Given the description of an element on the screen output the (x, y) to click on. 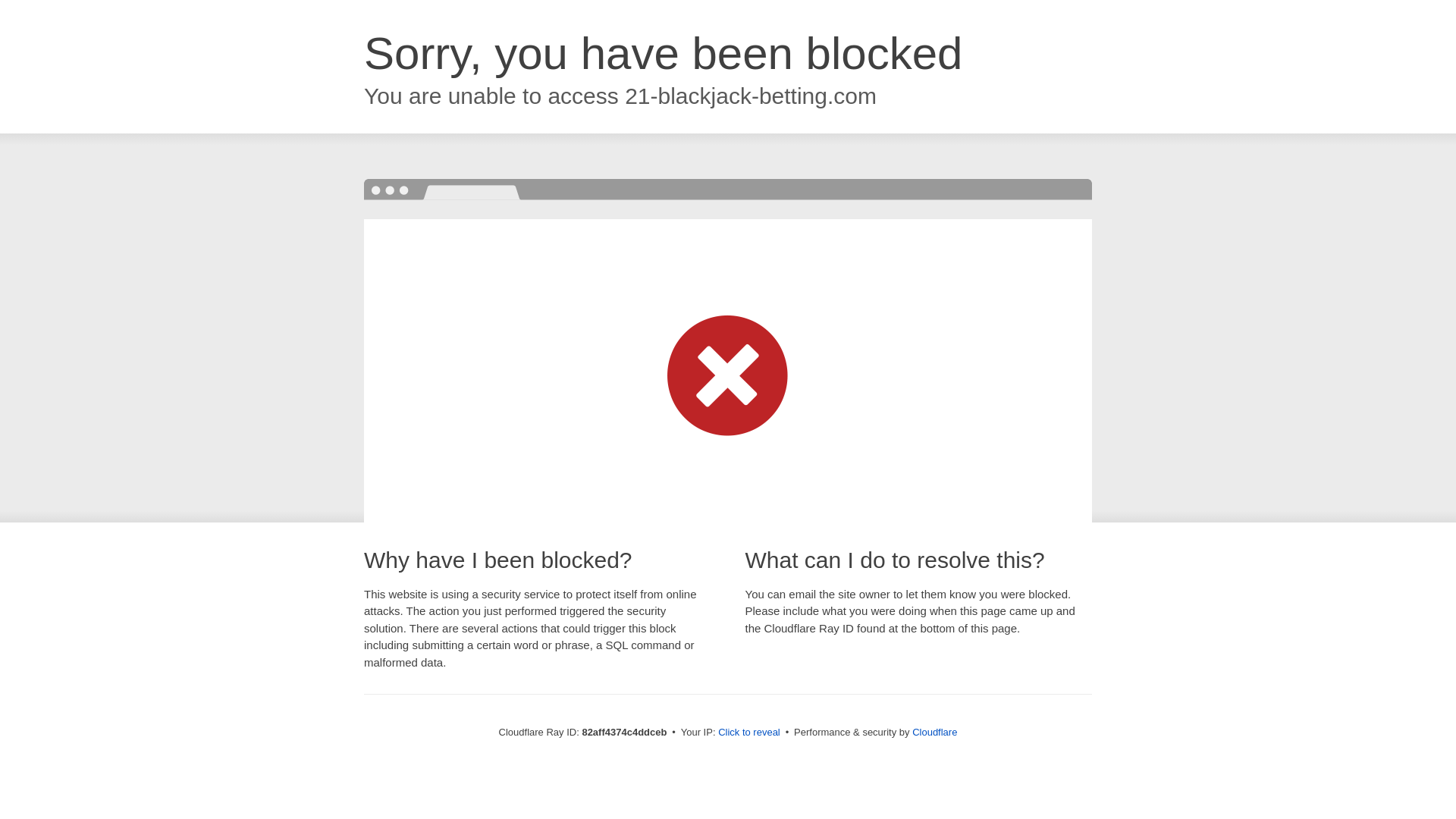
Cloudflare Element type: text (934, 731)
Click to reveal Element type: text (749, 732)
